Given the description of an element on the screen output the (x, y) to click on. 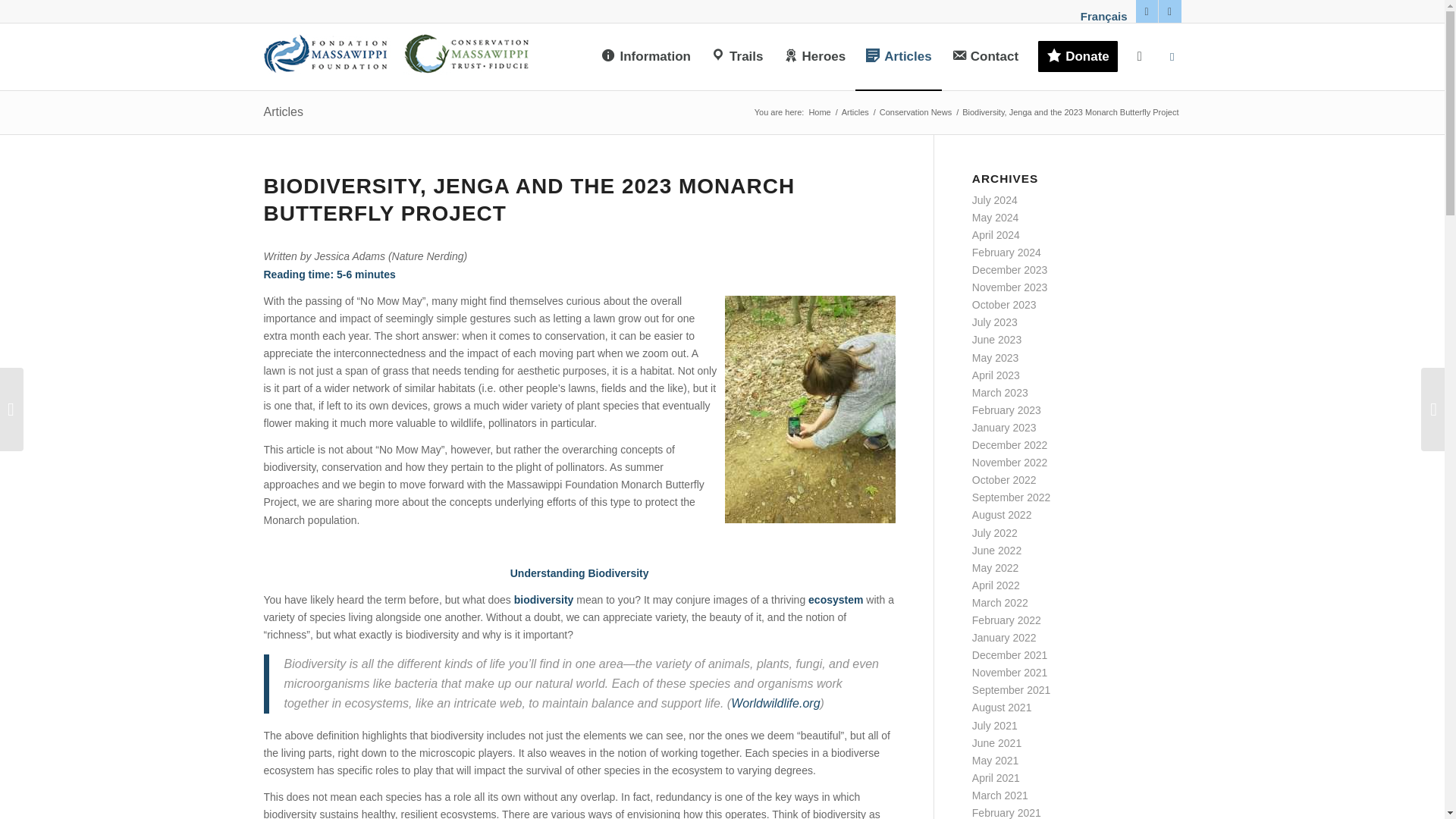
Information (645, 56)
Articles (855, 112)
Articles (855, 112)
Donate (1076, 56)
Facebook (1146, 11)
long logo (396, 49)
Instagram (1169, 11)
Conservation News (915, 112)
Trails (736, 56)
Fondation Massawippi Foundation (819, 112)
Heroes (814, 56)
Permanent Link: Articles (282, 111)
long logo (396, 56)
Contact (984, 56)
Articles (898, 56)
